Given the description of an element on the screen output the (x, y) to click on. 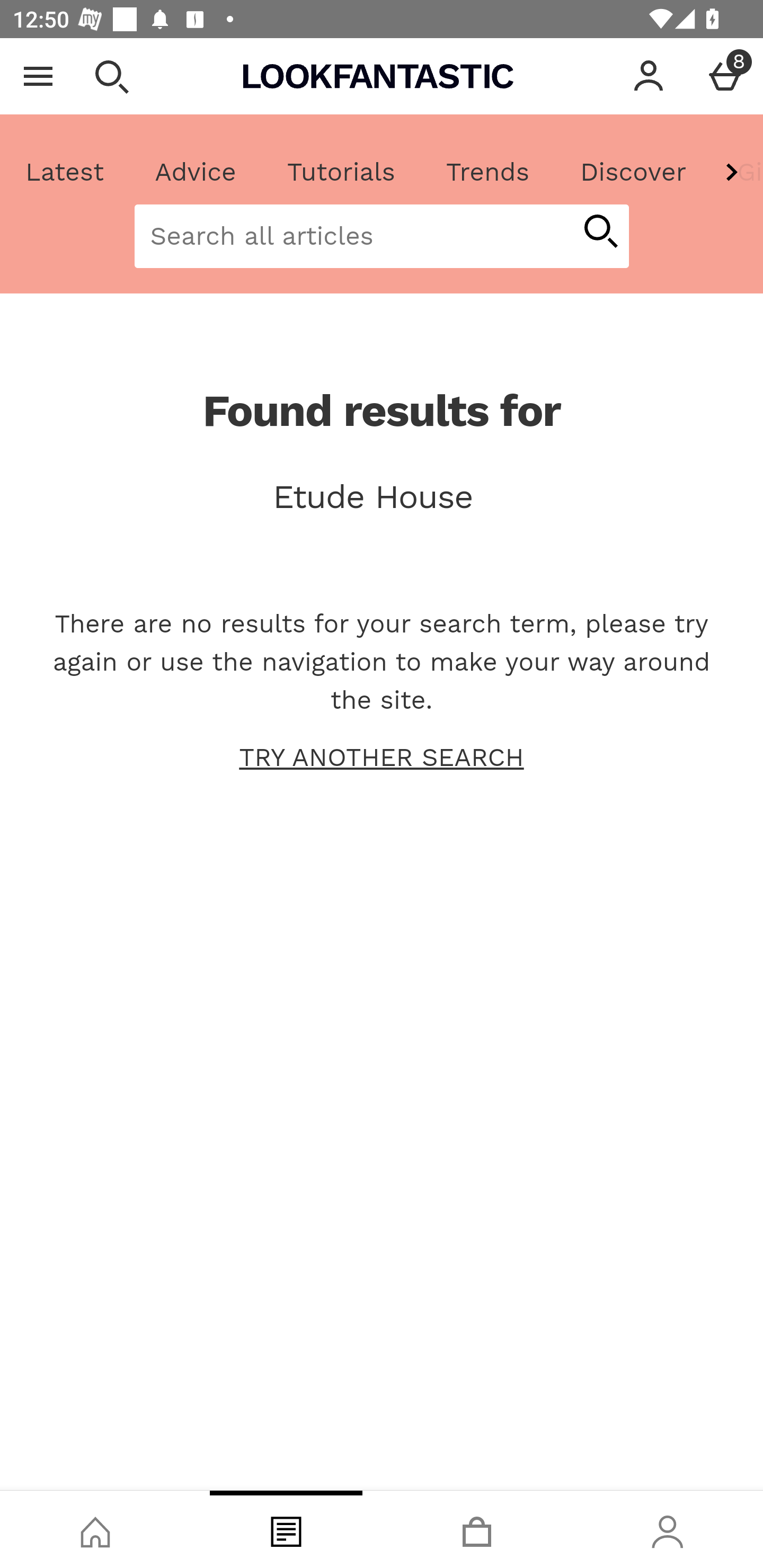
Open Menu (38, 75)
Open search (111, 75)
Account (648, 75)
Basket Menu (724, 75)
Lookfantastic USA Home page (378, 76)
Latest (65, 172)
Advice (195, 172)
Tutorials (340, 172)
Trends (486, 172)
Discover (632, 172)
Gift Guide (736, 172)
start article search (599, 232)
Etude House (381, 496)
TRY ANOTHER SEARCH (381, 757)
Shop, tab, 1 of 4 (95, 1529)
Blog, tab, 2 of 4 (285, 1529)
Basket, tab, 3 of 4 (476, 1529)
Account, tab, 4 of 4 (667, 1529)
